Given the description of an element on the screen output the (x, y) to click on. 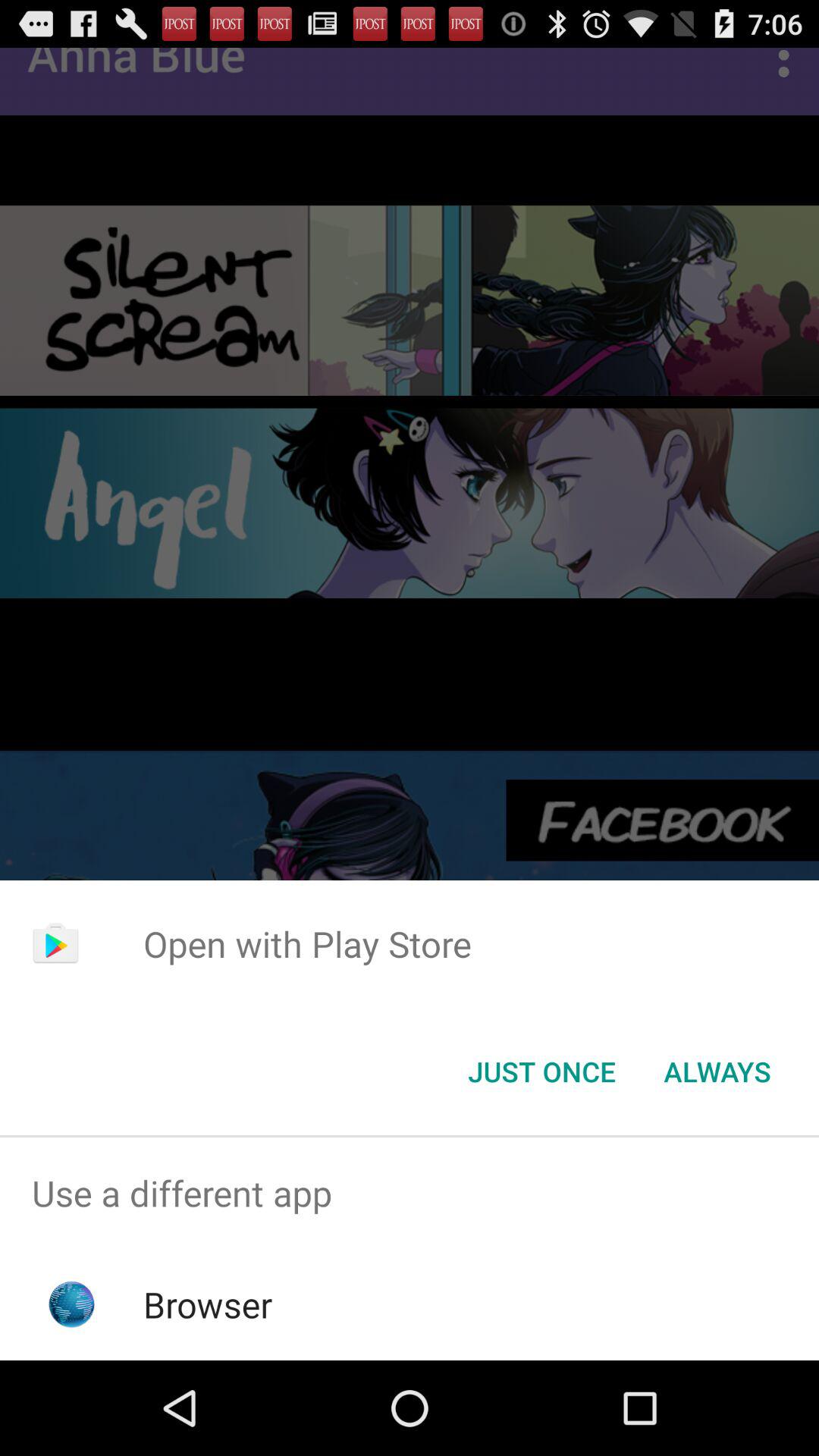
flip to the just once button (541, 1071)
